Given the description of an element on the screen output the (x, y) to click on. 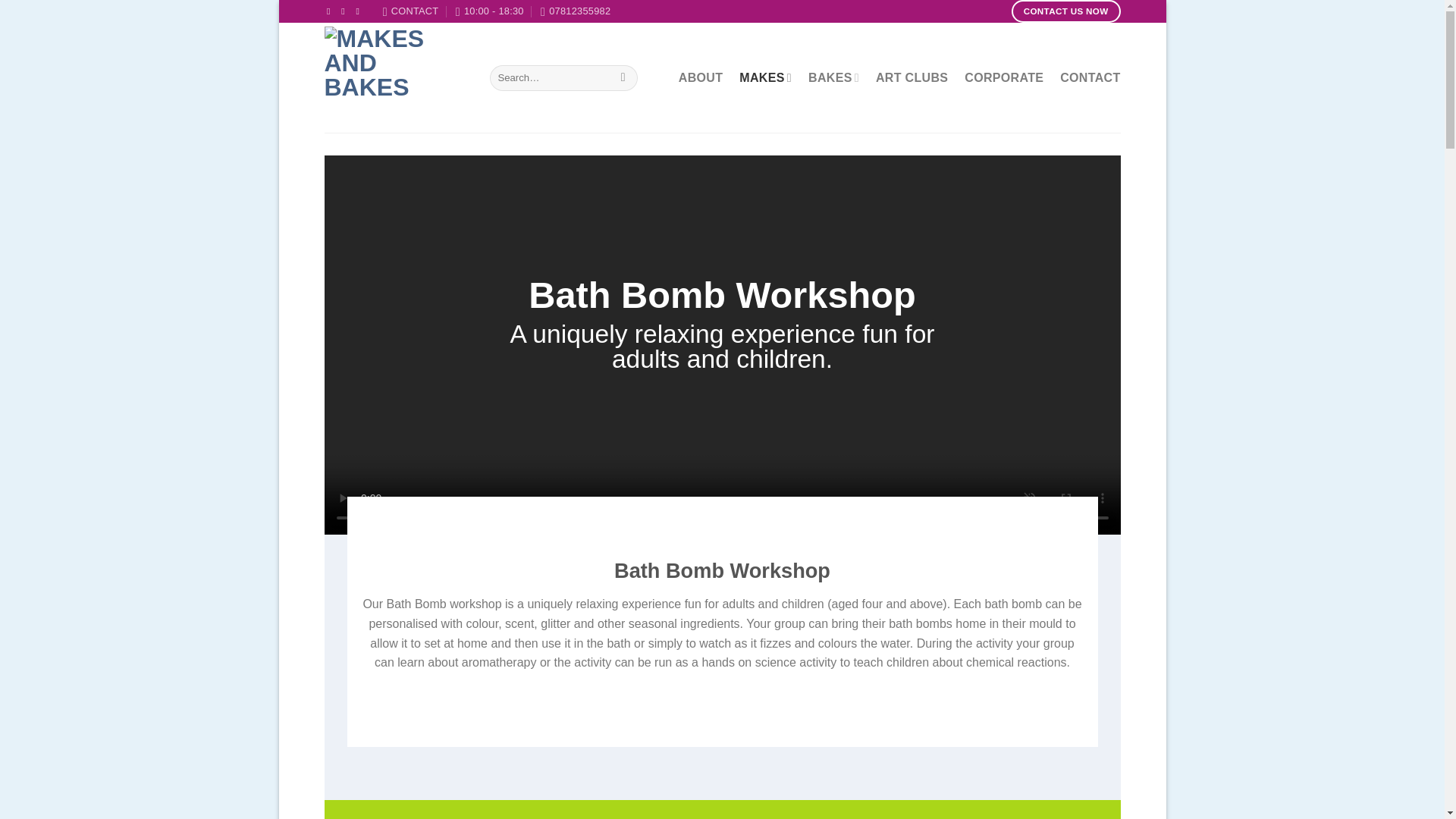
07812355982 (575, 11)
10:00 - 18:30  (489, 11)
07812355982 (575, 11)
CONTACT (410, 11)
10:00 - 18:30 (489, 11)
ABOUT (700, 77)
MAKES (765, 77)
BAKES (833, 77)
